Given the description of an element on the screen output the (x, y) to click on. 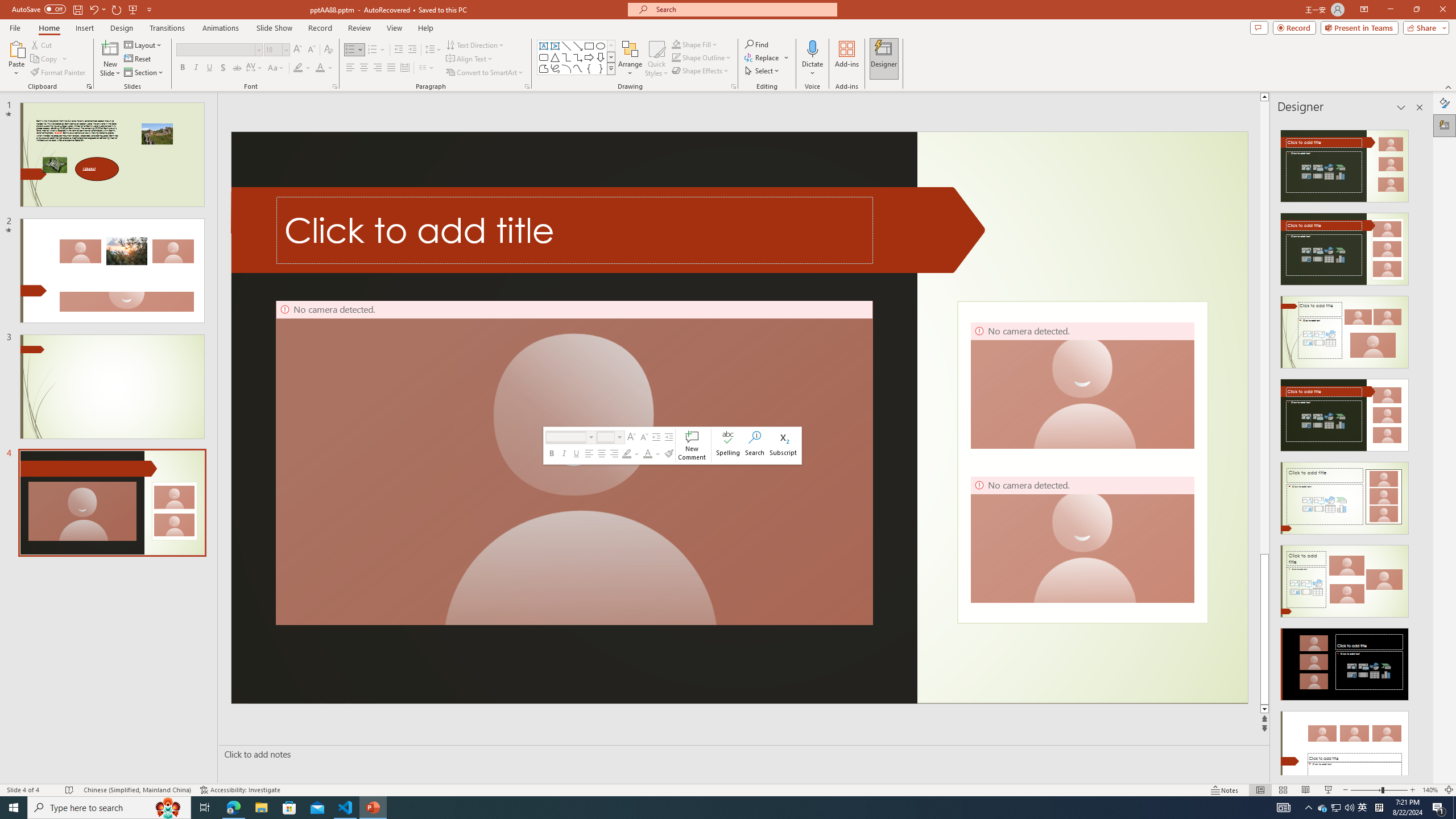
Convert to SmartArt (485, 72)
Office Clipboard... (88, 85)
Bullets (354, 49)
Class: NetUITextbox (605, 436)
Slide Notes (741, 754)
Undo (96, 9)
Underline (209, 67)
Connector: Elbow Arrow (577, 57)
Transitions (167, 28)
Align Left (349, 67)
Zoom to Fit  (1449, 790)
Zoom 140% (1430, 790)
Class: MsoCommandBar (728, 789)
Undo (92, 9)
Strikethrough (237, 67)
